Given the description of an element on the screen output the (x, y) to click on. 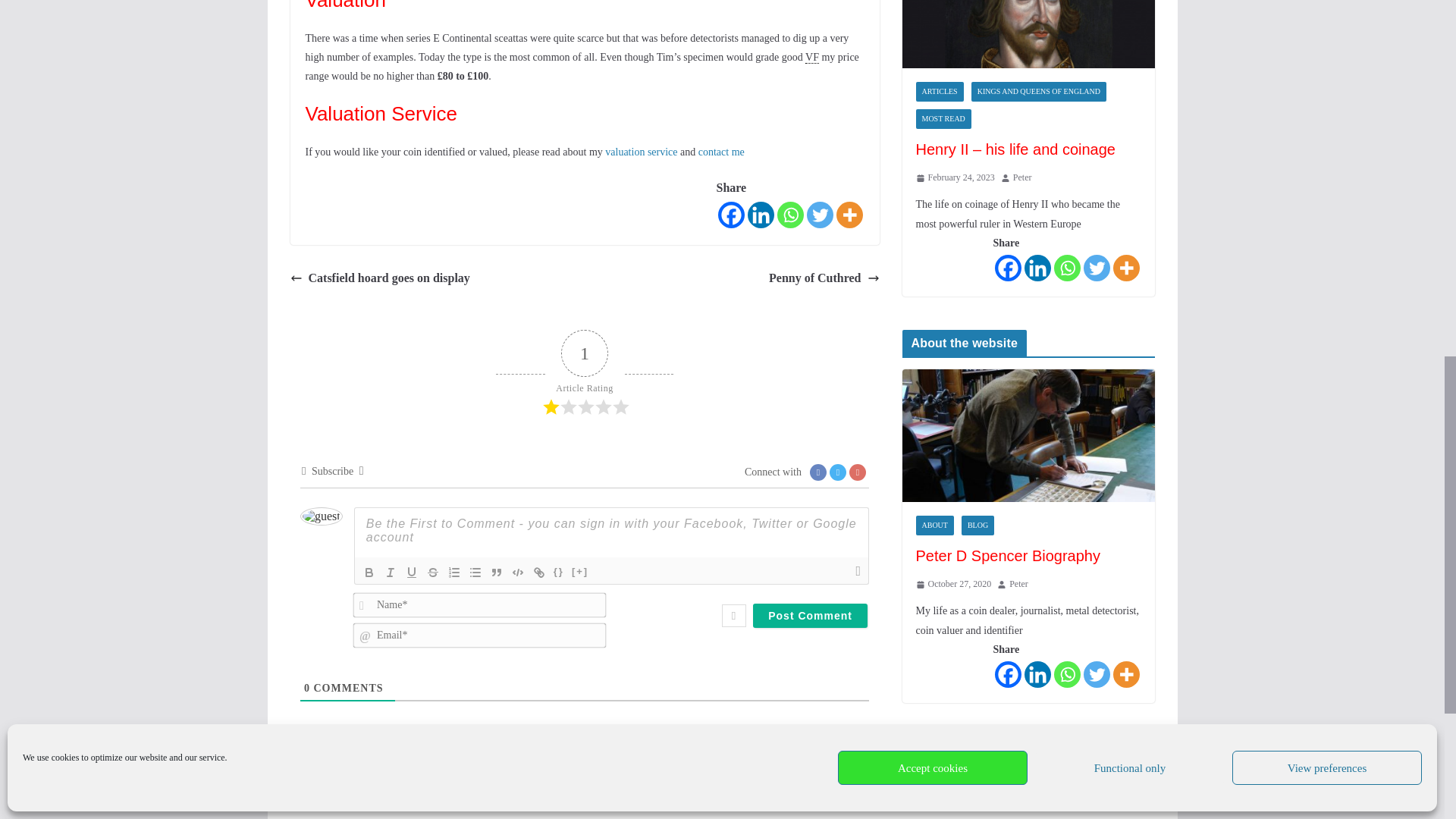
Italic (390, 572)
More (848, 214)
Blockquote (496, 572)
Facebook (730, 214)
Whatsapp (789, 214)
Ordered List (454, 572)
Twitter (819, 214)
Strike (433, 572)
Bold (369, 572)
Post Comment (809, 615)
